Given the description of an element on the screen output the (x, y) to click on. 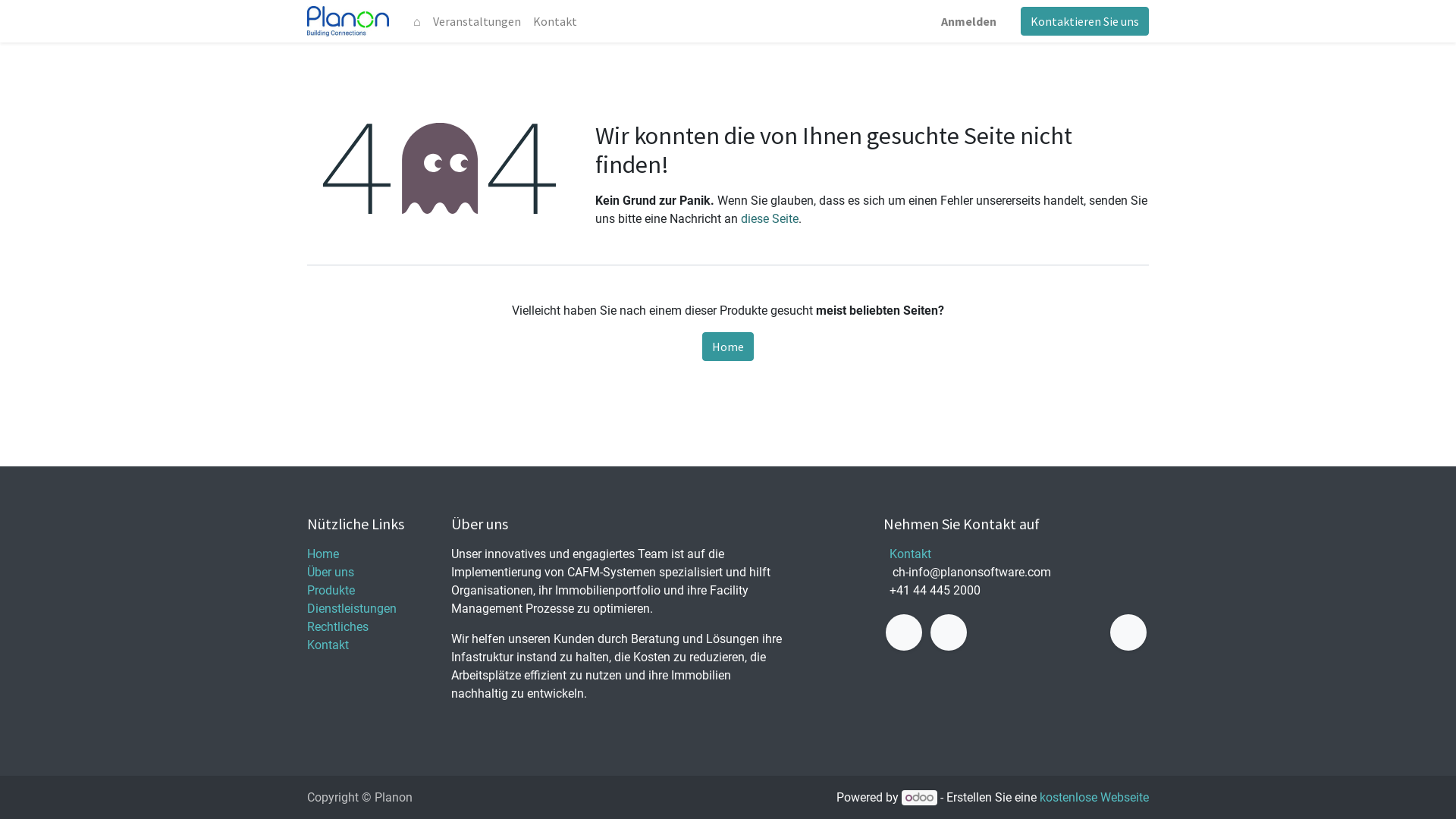
Kontakt Element type: text (327, 644)
Kontakt Element type: text (910, 553)
Home Element type: text (322, 553)
Kontaktieren Sie uns Element type: text (1084, 20)
Anmelden Element type: text (968, 21)
Home Element type: text (727, 346)
kostenlose Webseite Element type: text (1093, 797)
Produkte Element type: text (330, 590)
Kontakt Element type: text (555, 21)
Veranstaltungen Element type: text (476, 21)
Dienstleistungen Element type: text (351, 608)
Info Element type: hover (348, 21)
diese Seite Element type: text (769, 218)
Rechtliches Element type: text (337, 626)
